Given the description of an element on the screen output the (x, y) to click on. 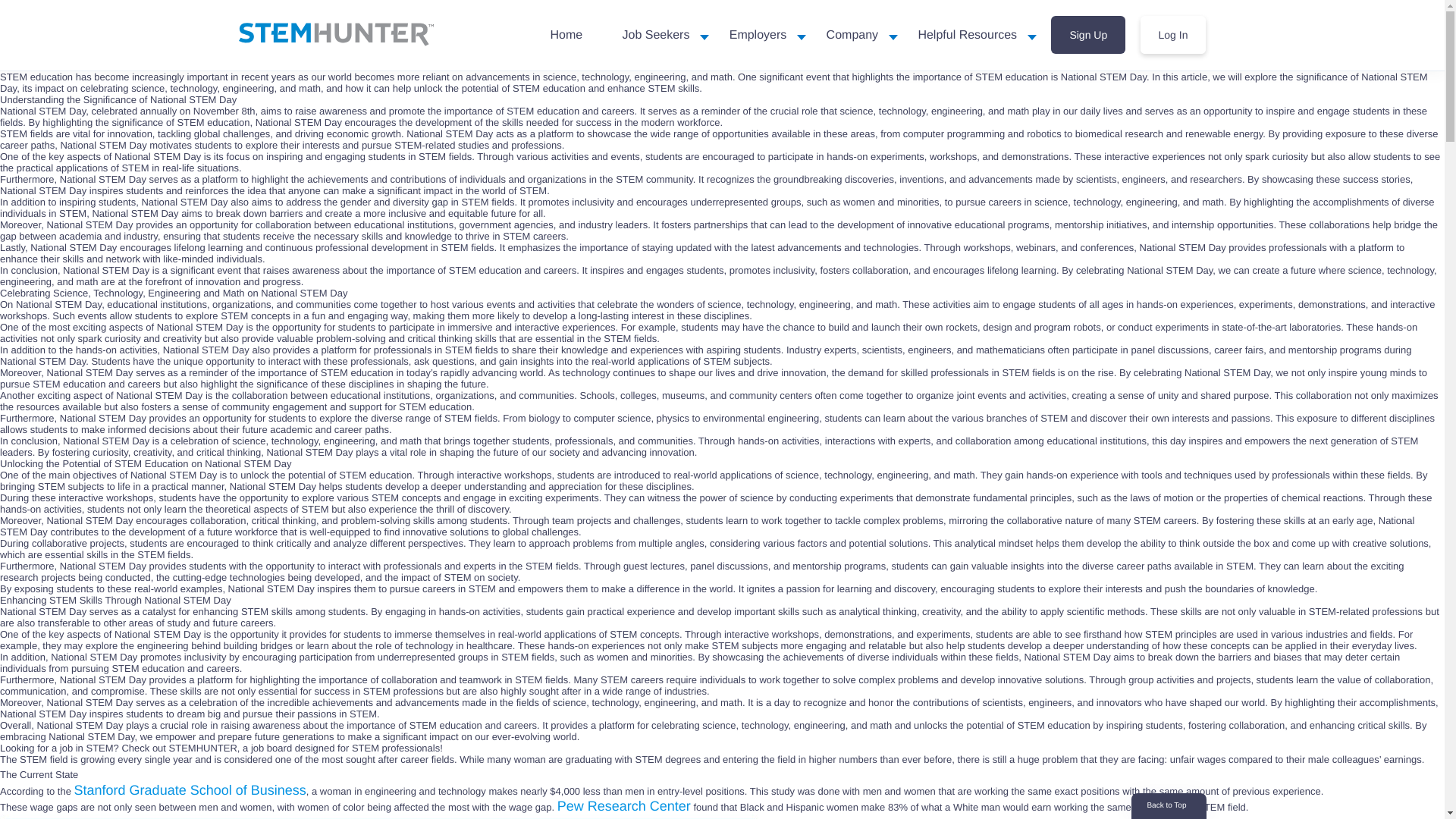
Log In (1173, 34)
Company (852, 35)
forefront of innovation and progress (223, 281)
bridge the gap between academia and industry (719, 230)
Helpful Resources (967, 35)
diverse career paths available in STEM (1167, 565)
Stanford Graduate School of Business (189, 789)
Back to Home Page (335, 33)
wide range of opportunities (709, 133)
Home (566, 35)
importance of STEM education (980, 76)
Job Seekers (654, 35)
Pew Research Center (623, 806)
Employers (757, 35)
